Given the description of an element on the screen output the (x, y) to click on. 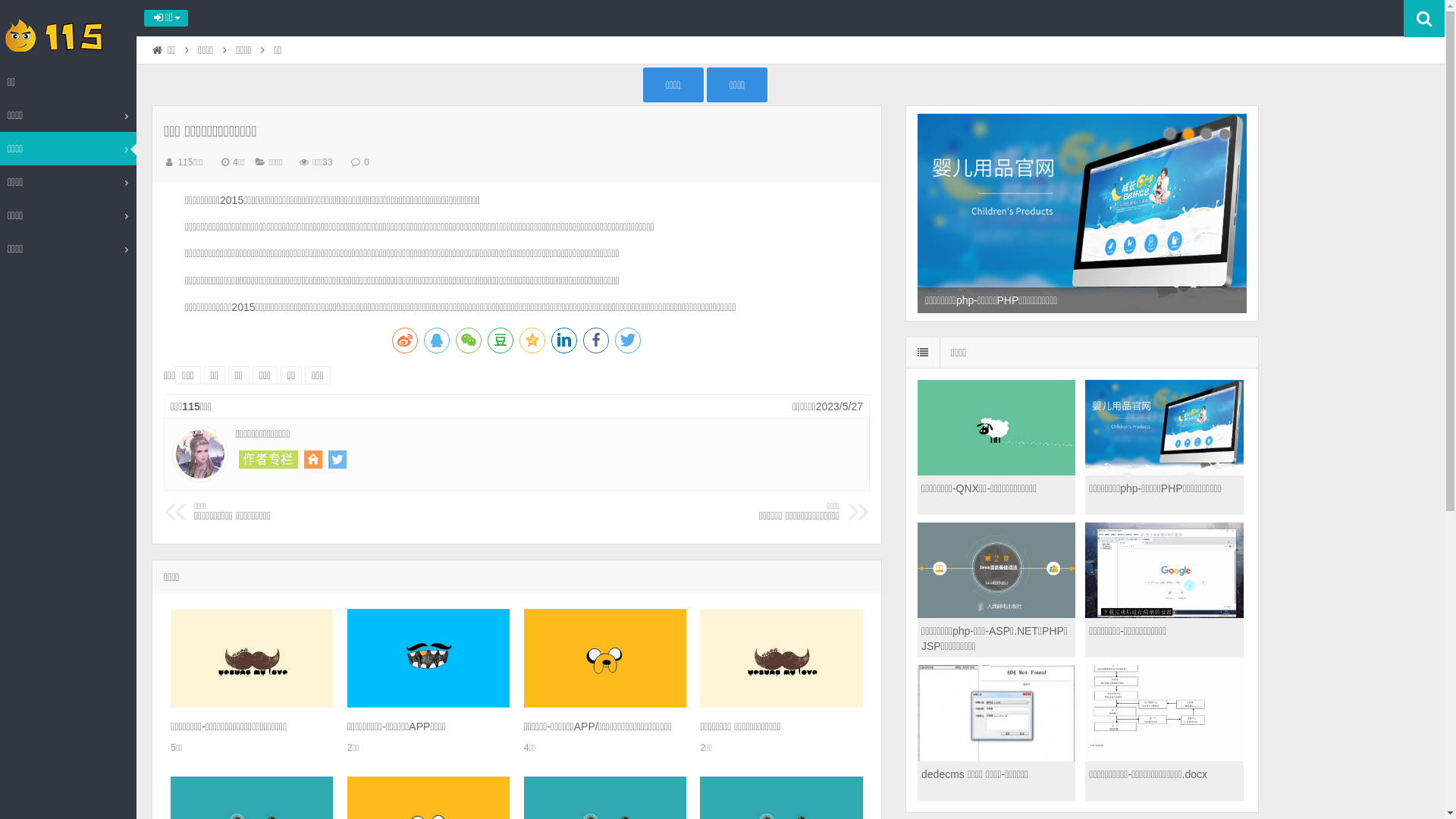
1 Element type: text (1169, 133)
3 Element type: text (1206, 133)
4 Element type: text (1224, 133)
0 Element type: text (366, 161)
2 Element type: text (1188, 133)
